Given the description of an element on the screen output the (x, y) to click on. 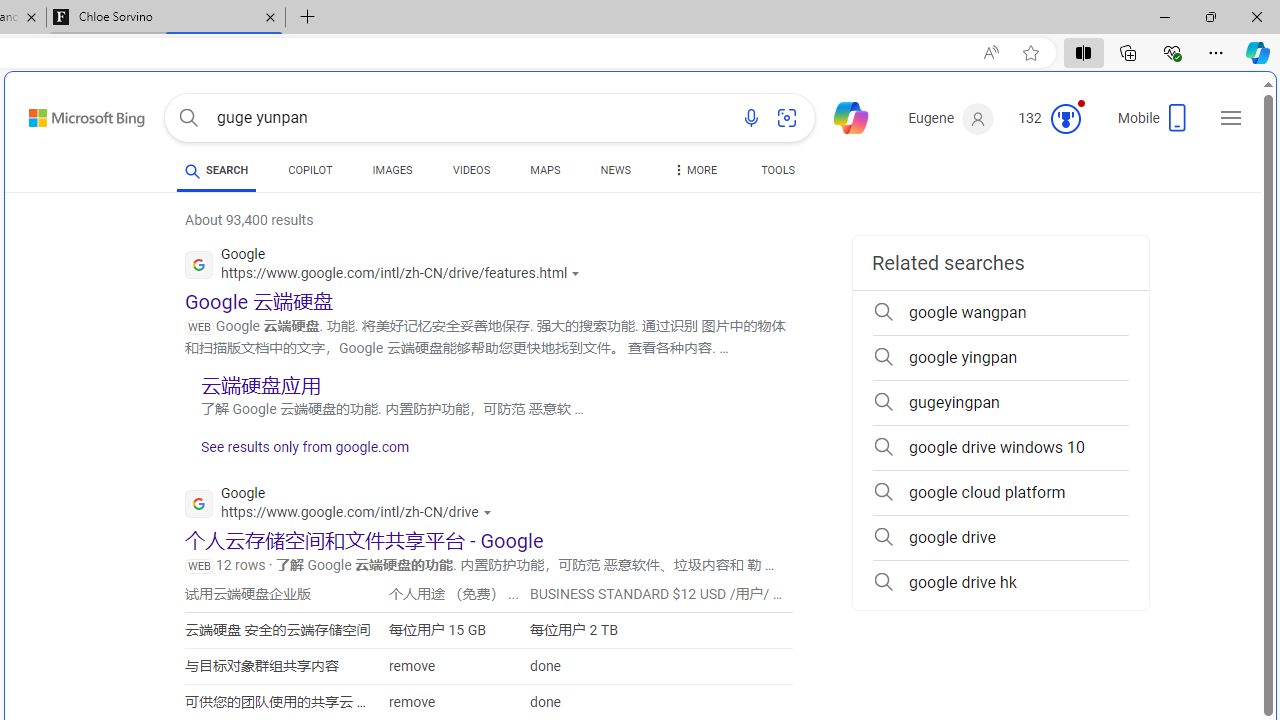
SEARCH (216, 170)
New Tab (308, 17)
Search using an image (787, 117)
Google (343, 506)
VIDEOS (471, 173)
Chat (842, 116)
Chat (842, 116)
Split screen (1083, 52)
NEWS (614, 173)
IMAGES (392, 170)
Copilot (Ctrl+Shift+.) (1258, 52)
